Given the description of an element on the screen output the (x, y) to click on. 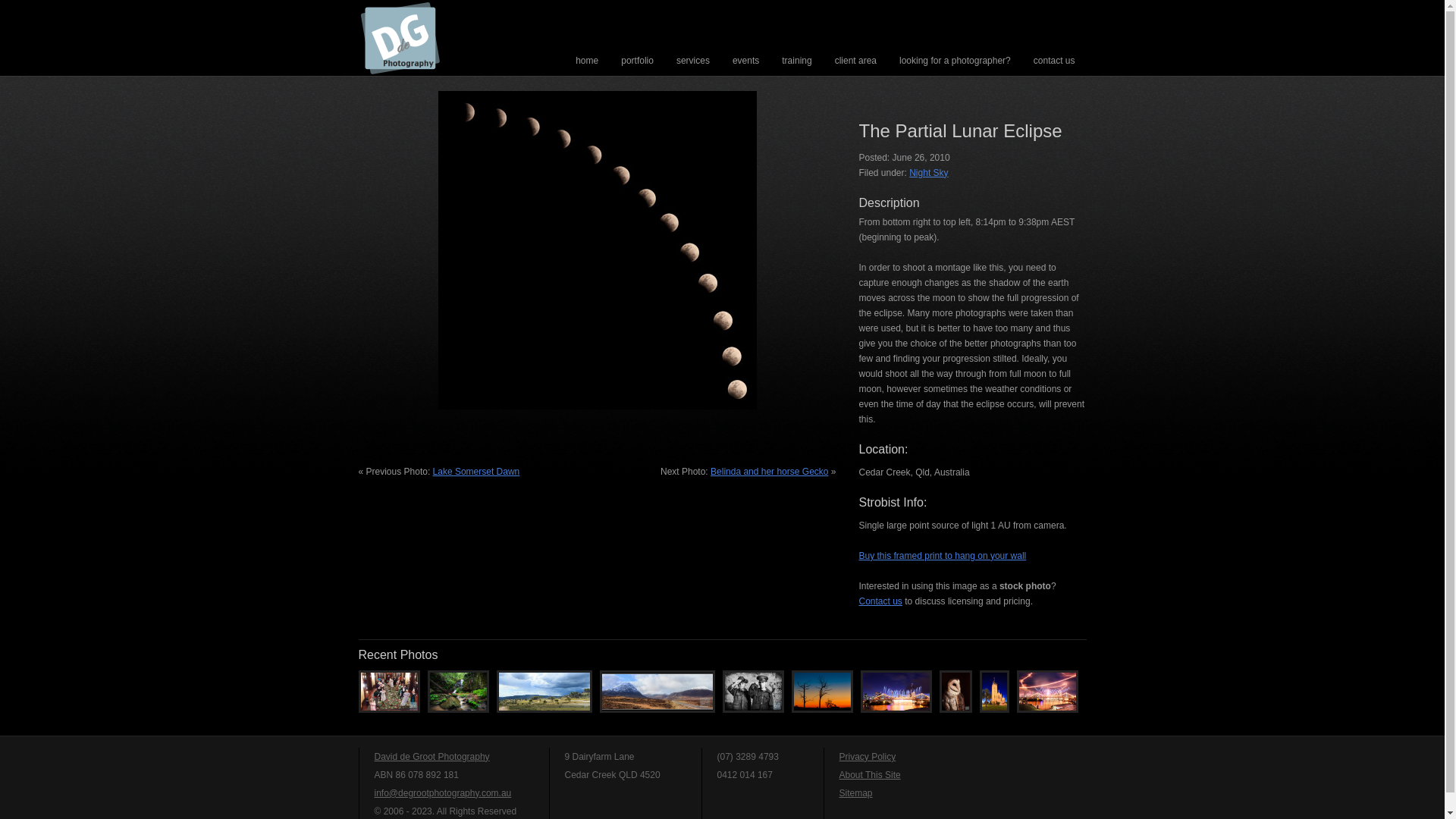
Belinda and her horse Gecko Element type: text (769, 471)
The Partial Lunar Eclipse Element type: text (959, 130)
contact us Element type: text (1054, 62)
home Element type: text (586, 62)
client area Element type: text (855, 62)
Privacy Policy Element type: text (866, 756)
Sitemap Element type: text (855, 792)
Buy this framed print to hang on your wall Element type: text (942, 555)
portfolio Element type: text (637, 62)
services Element type: text (693, 62)
Lake Somerset Dawn Element type: text (476, 471)
training Element type: text (796, 62)
David de Groot Photography Element type: text (431, 756)
looking for a photographer? Element type: text (955, 62)
About This Site Element type: text (869, 774)
info@degrootphotography.com.au Element type: text (442, 792)
Contact us Element type: text (879, 601)
Night Sky Element type: text (928, 172)
events Element type: text (745, 62)
